Given the description of an element on the screen output the (x, y) to click on. 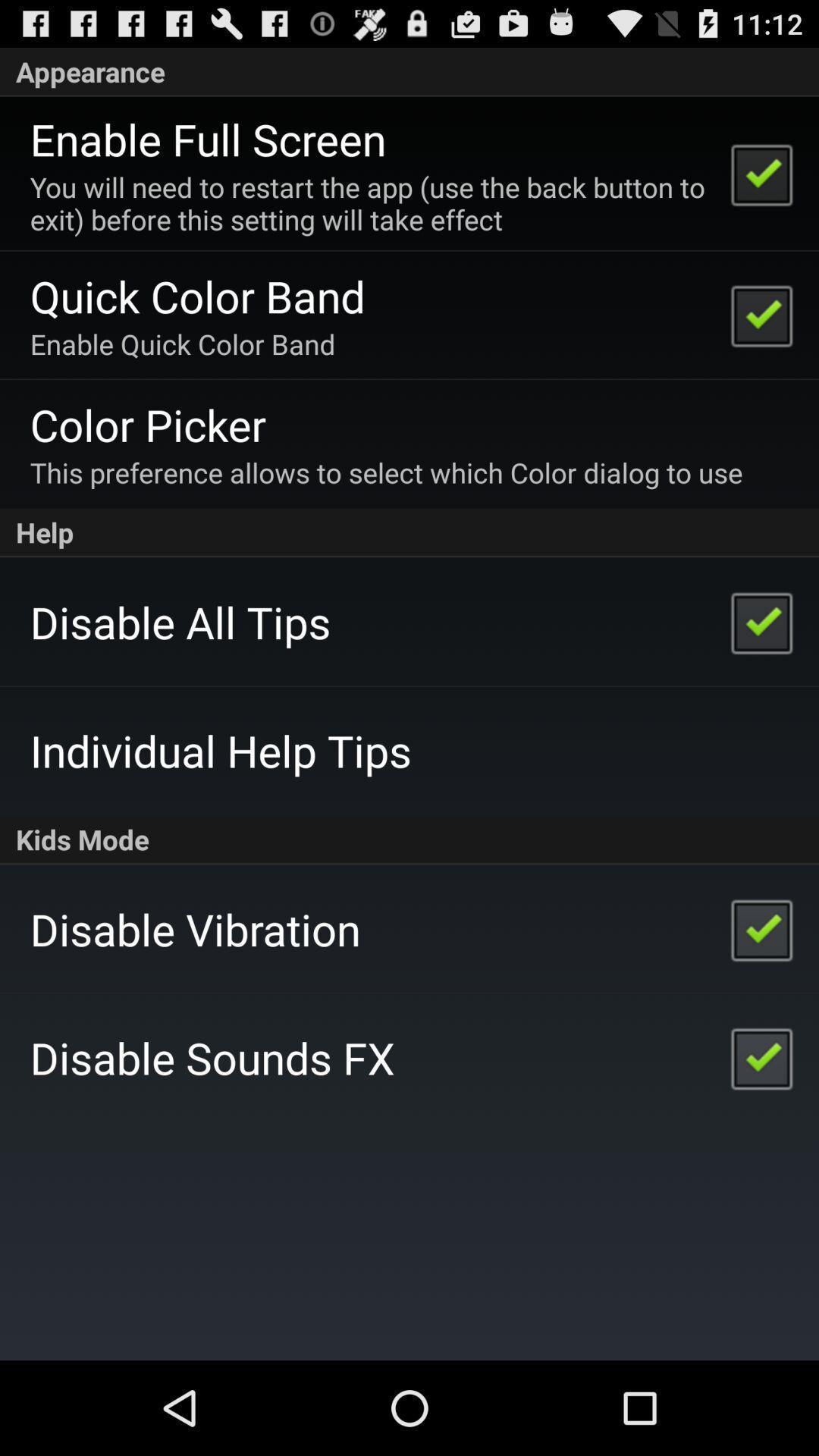
launch icon above the individual help tips app (180, 621)
